Given the description of an element on the screen output the (x, y) to click on. 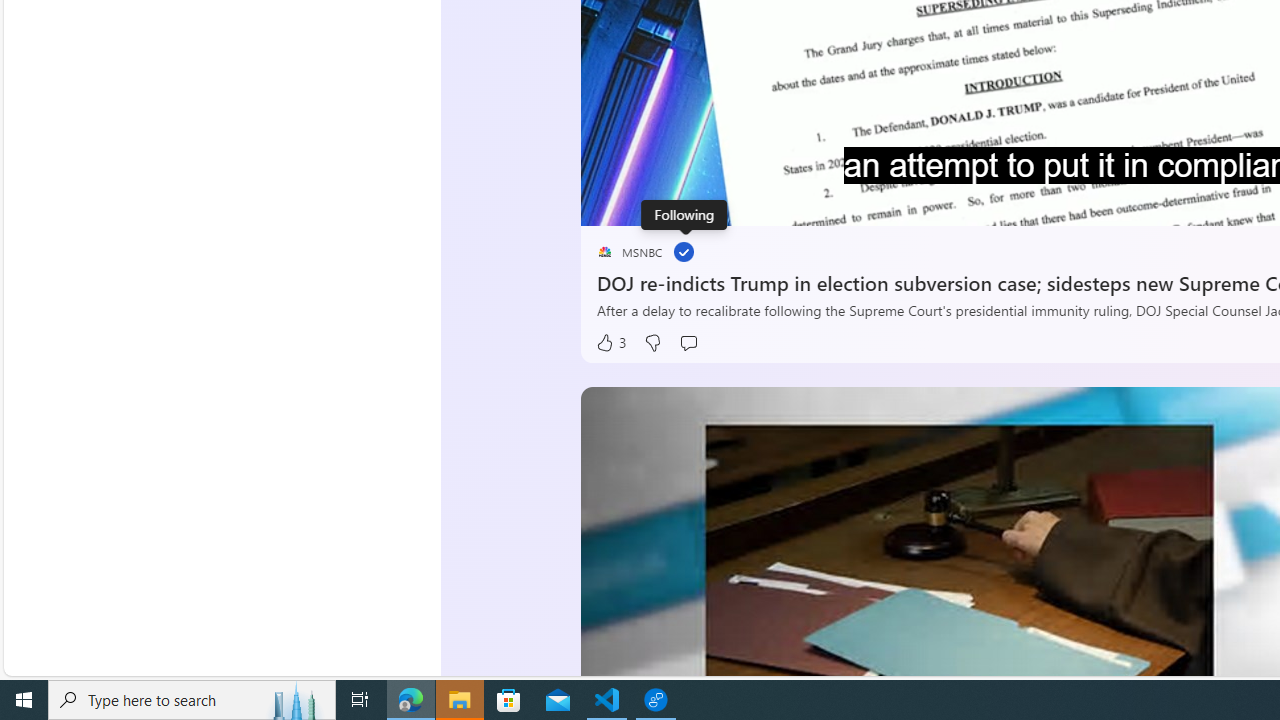
placeholder (604, 252)
3 Like (610, 343)
Pause (611, 203)
placeholder MSNBC (629, 252)
Seek Back (650, 203)
Seek Forward (690, 203)
